Given the description of an element on the screen output the (x, y) to click on. 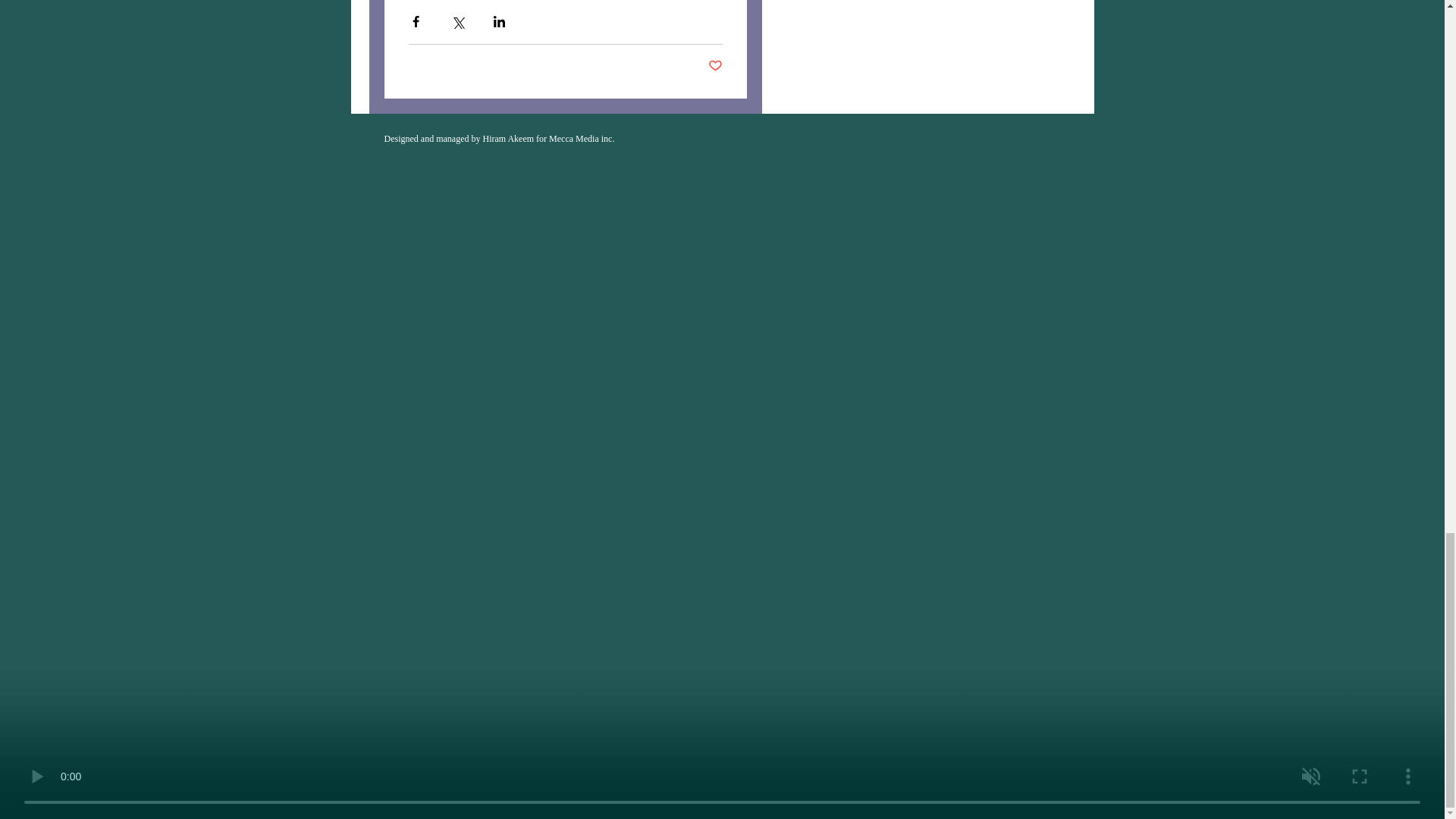
Post not marked as liked (714, 66)
